Given the description of an element on the screen output the (x, y) to click on. 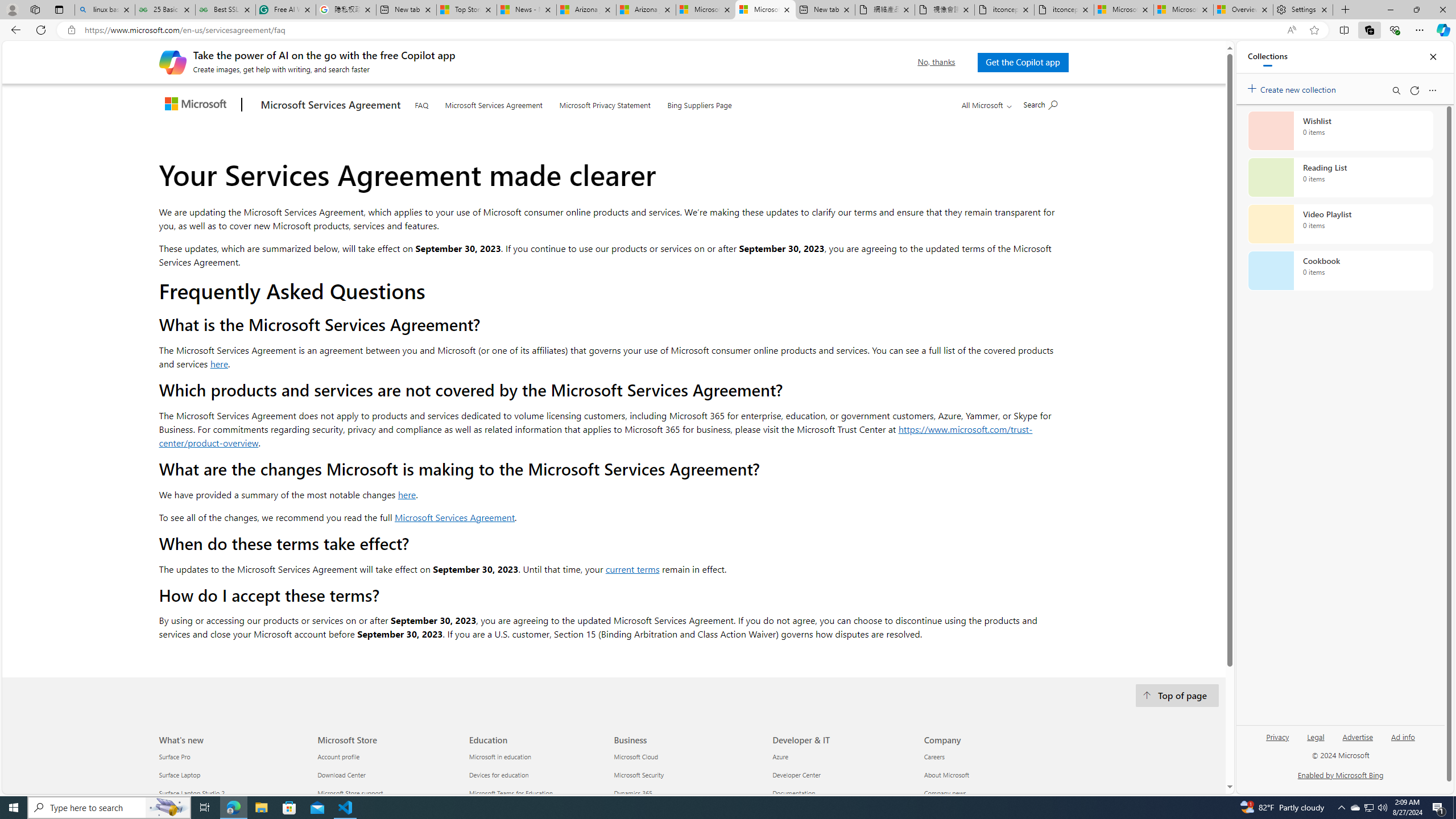
Surface Pro What's new (174, 756)
Dynamics 365 Business (632, 792)
No, thanks (936, 62)
Microsoft Services Agreement FAQ (765, 9)
About Microsoft (992, 774)
Microsoft Cloud Business (635, 756)
Video Playlist collection, 0 items (1339, 223)
Microsoft Cloud (685, 756)
Wishlist collection, 0 items (1339, 130)
Overview (1243, 9)
Microsoft Security (685, 774)
